Given the description of an element on the screen output the (x, y) to click on. 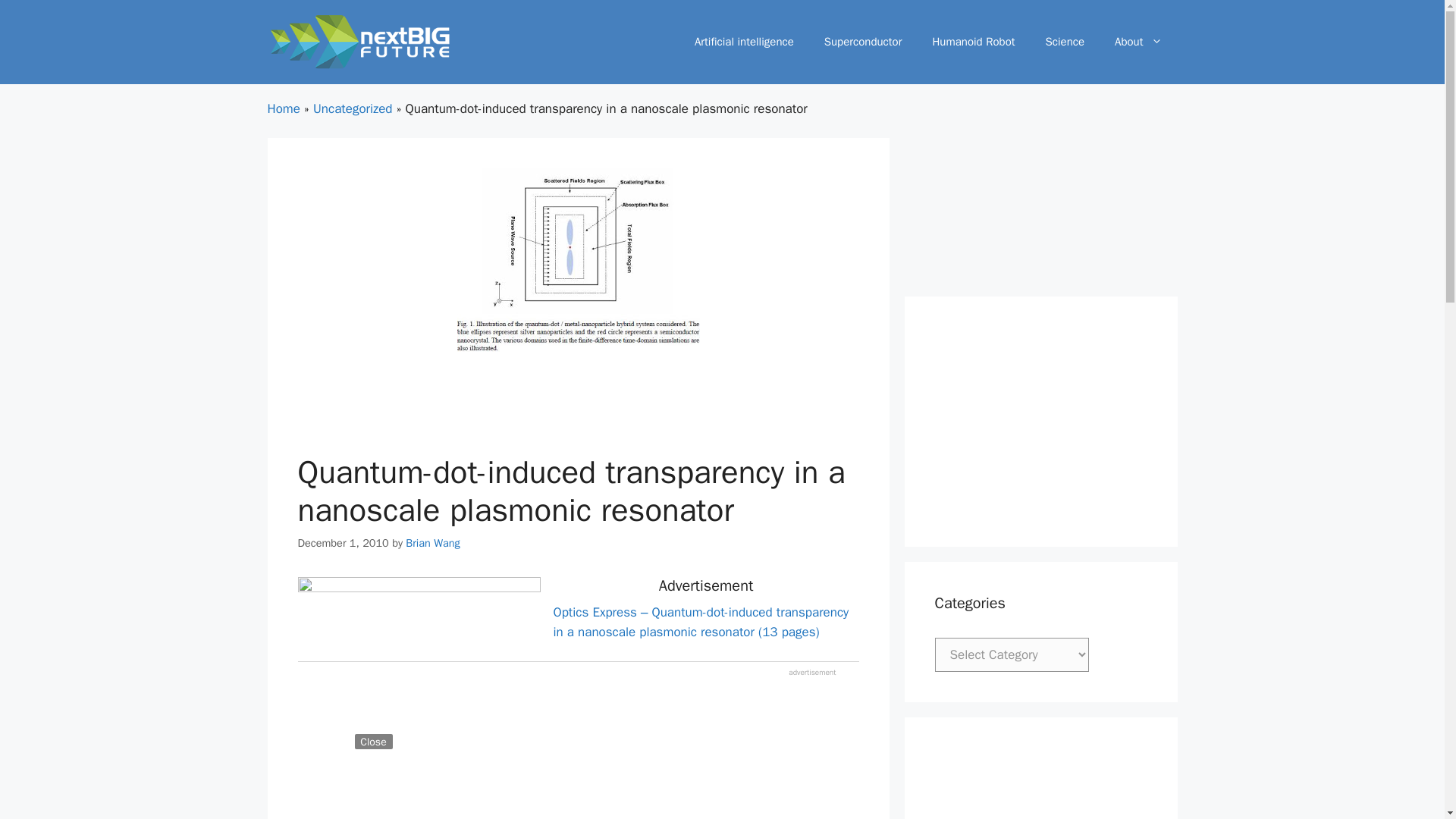
3rd party ad content (1040, 421)
3rd party ad content (1040, 783)
Superconductor (863, 41)
Home (282, 108)
About (1137, 41)
Uncategorized (353, 108)
Brian Wang (433, 542)
Artificial intelligence (744, 41)
3rd party ad content (577, 411)
Humanoid Robot (973, 41)
Science (1065, 41)
View all posts by Brian Wang (433, 542)
3rd party ad content (631, 785)
3rd party ad content (577, 796)
